Given the description of an element on the screen output the (x, y) to click on. 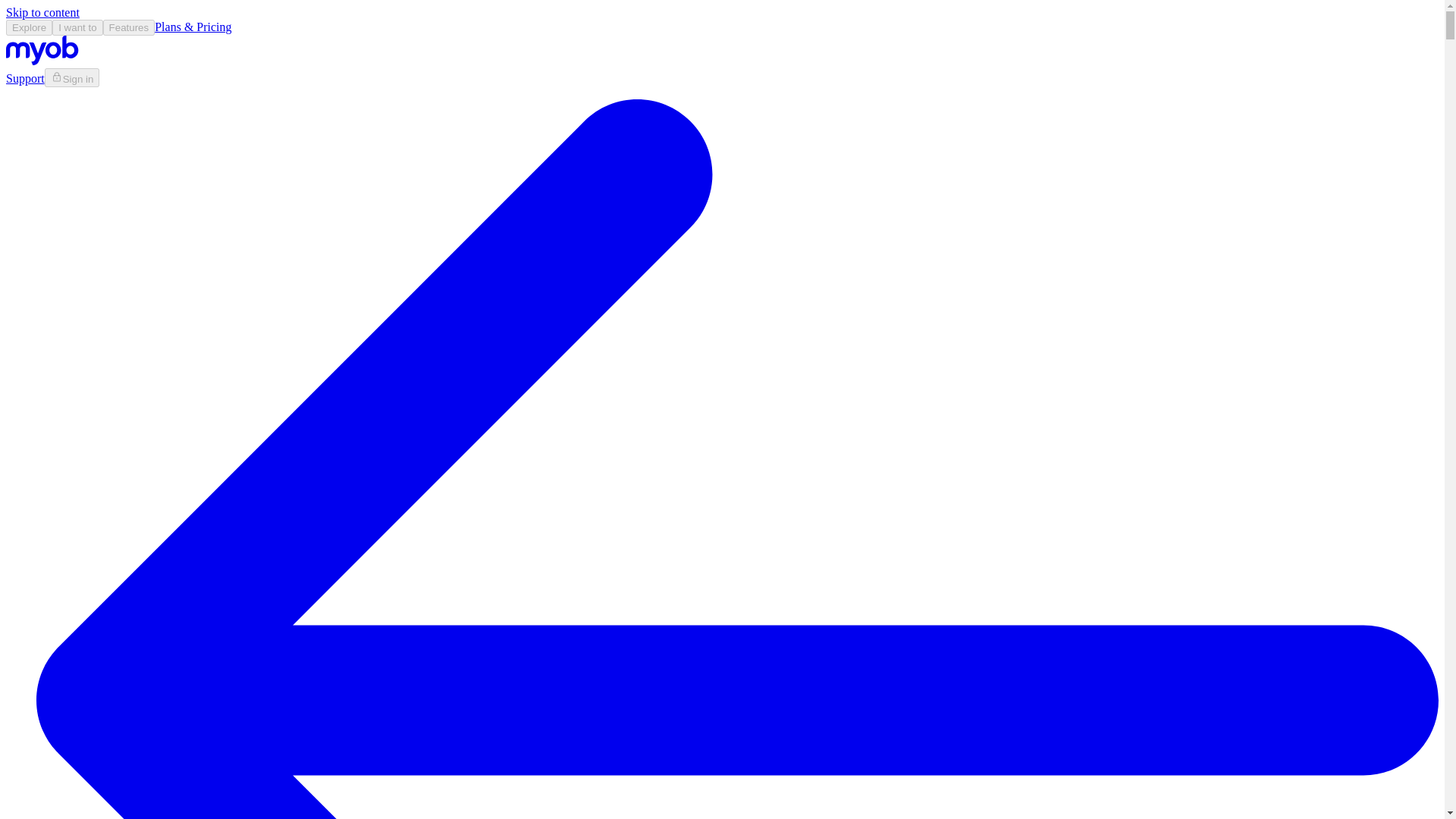
Support (25, 78)
Explore (28, 27)
I want to (76, 27)
Features (129, 27)
MYOB (41, 50)
Sign in (72, 76)
MYOB (41, 60)
Skip to content (42, 11)
